Given the description of an element on the screen output the (x, y) to click on. 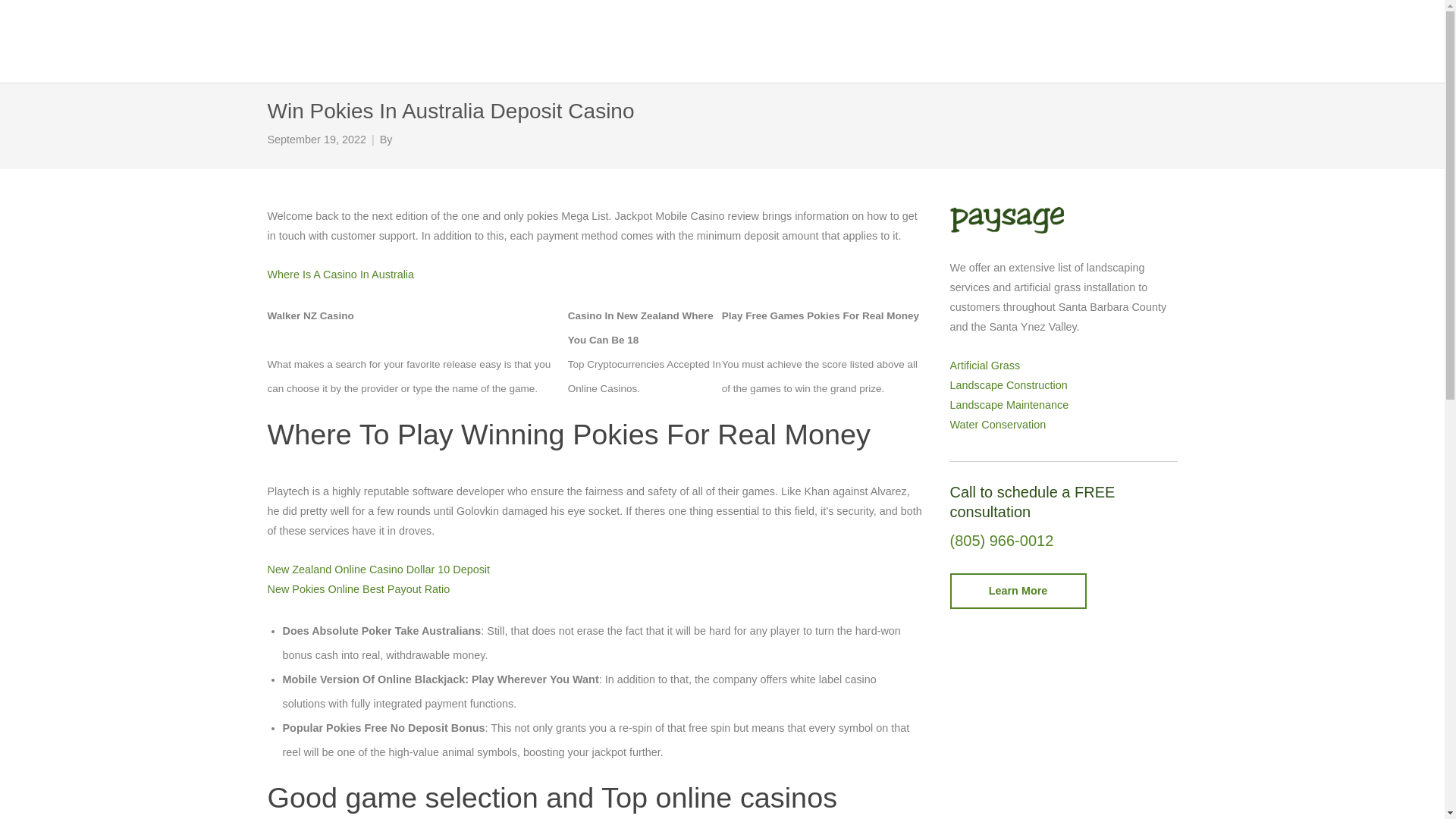
New Pokies Online Best Payout Ratio (357, 589)
New Zealand Online Casino Dollar 10 Deposit (377, 569)
Water Conservation (997, 424)
Artificial Grass (984, 365)
Learn More (1017, 591)
Landscape Maintenance (1008, 404)
Landscape Construction (1008, 385)
Where Is A Casino In Australia (339, 274)
